Given the description of an element on the screen output the (x, y) to click on. 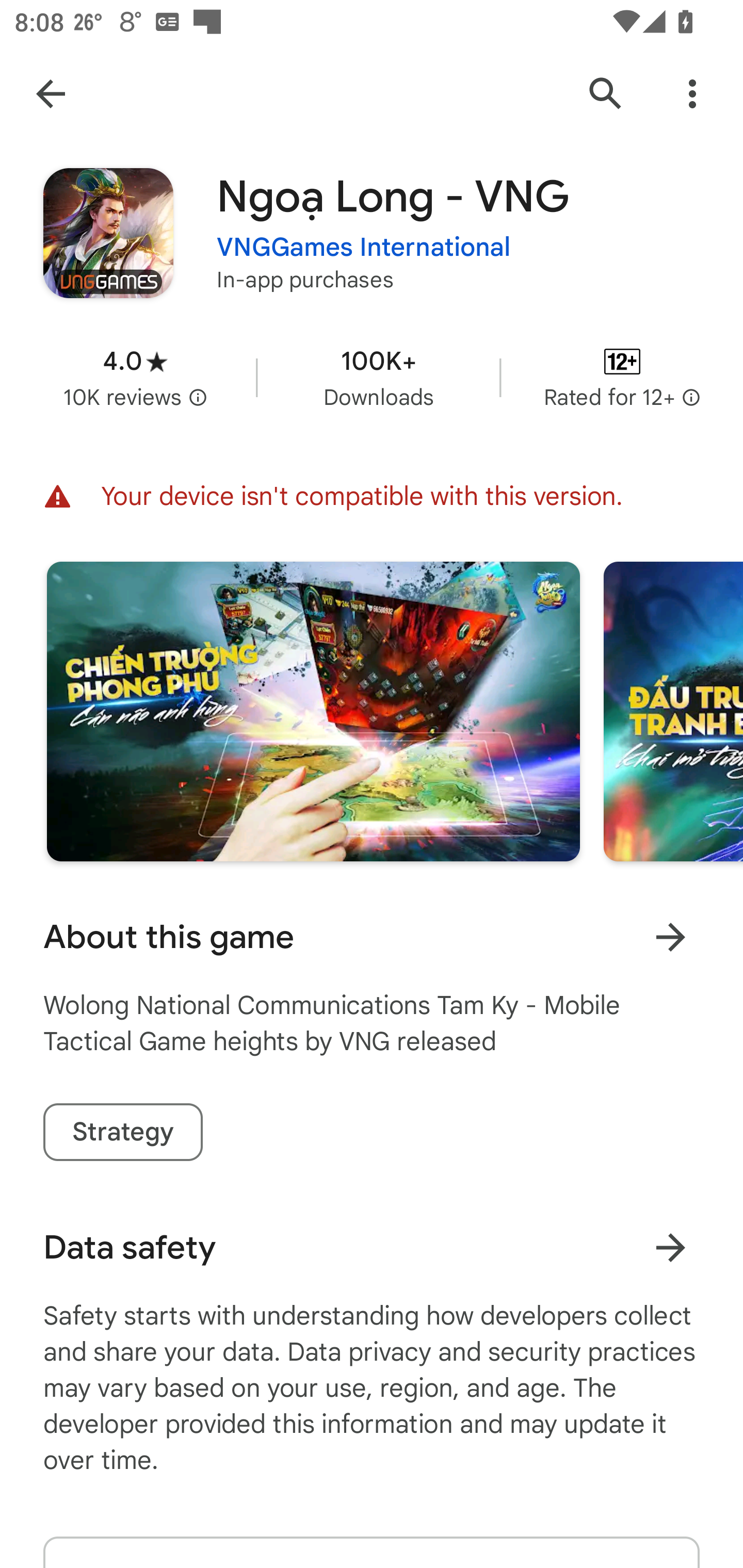
Navigate up (50, 93)
Search Google Play (605, 93)
More Options (692, 93)
VNGGames International (363, 247)
Average rating 4.0 stars in 10 thousand reviews (135, 377)
Content rating Rated for 12+ (622, 377)
Screenshot "1" of "5" (313, 710)
About this game Learn more About this game (371, 936)
Learn more About this game (670, 936)
Strategy tag (122, 1132)
Data safety Learn more about data safety (371, 1247)
Learn more about data safety (670, 1247)
